Given the description of an element on the screen output the (x, y) to click on. 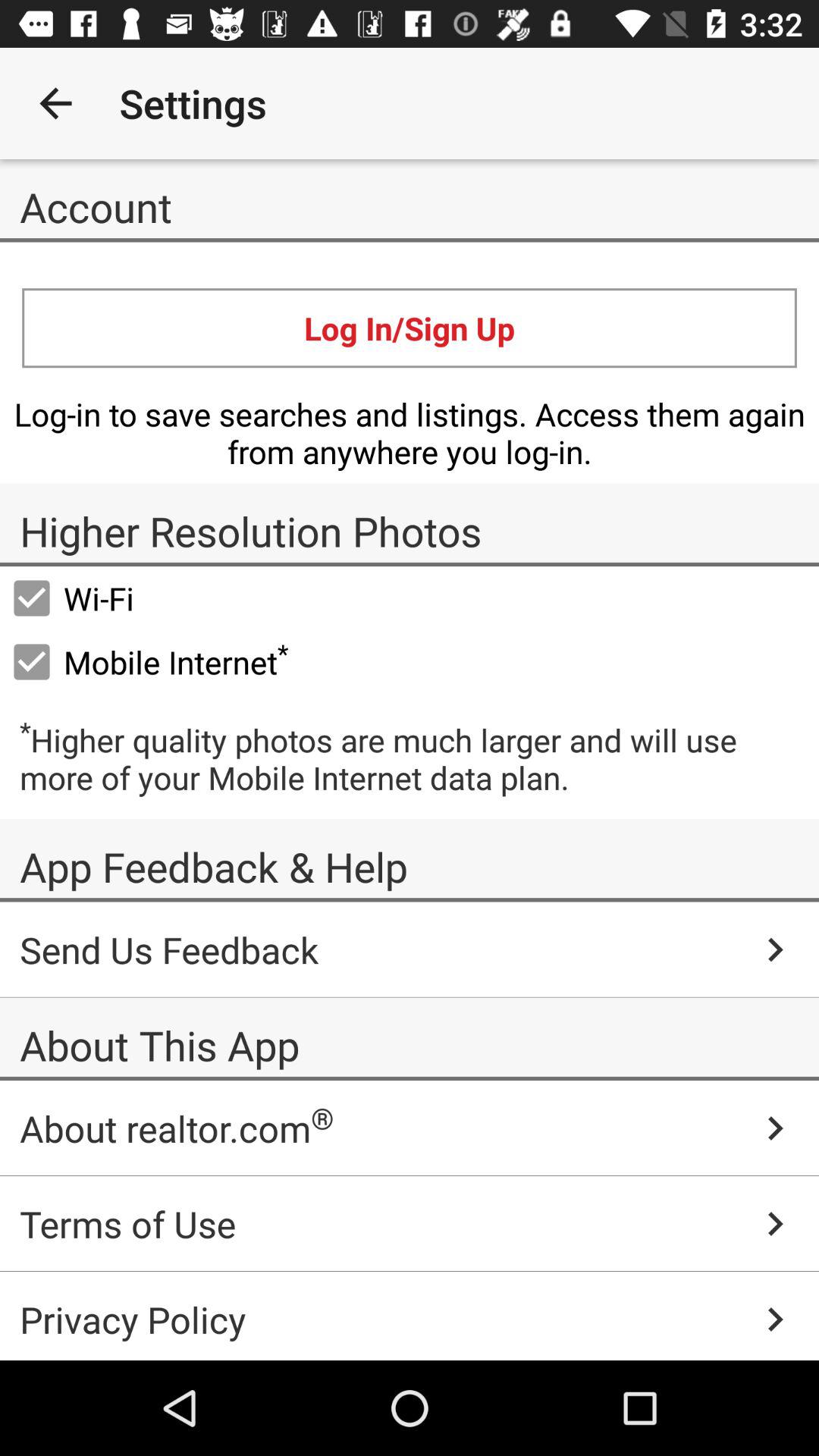
turn off item below about this app icon (409, 1128)
